Given the description of an element on the screen output the (x, y) to click on. 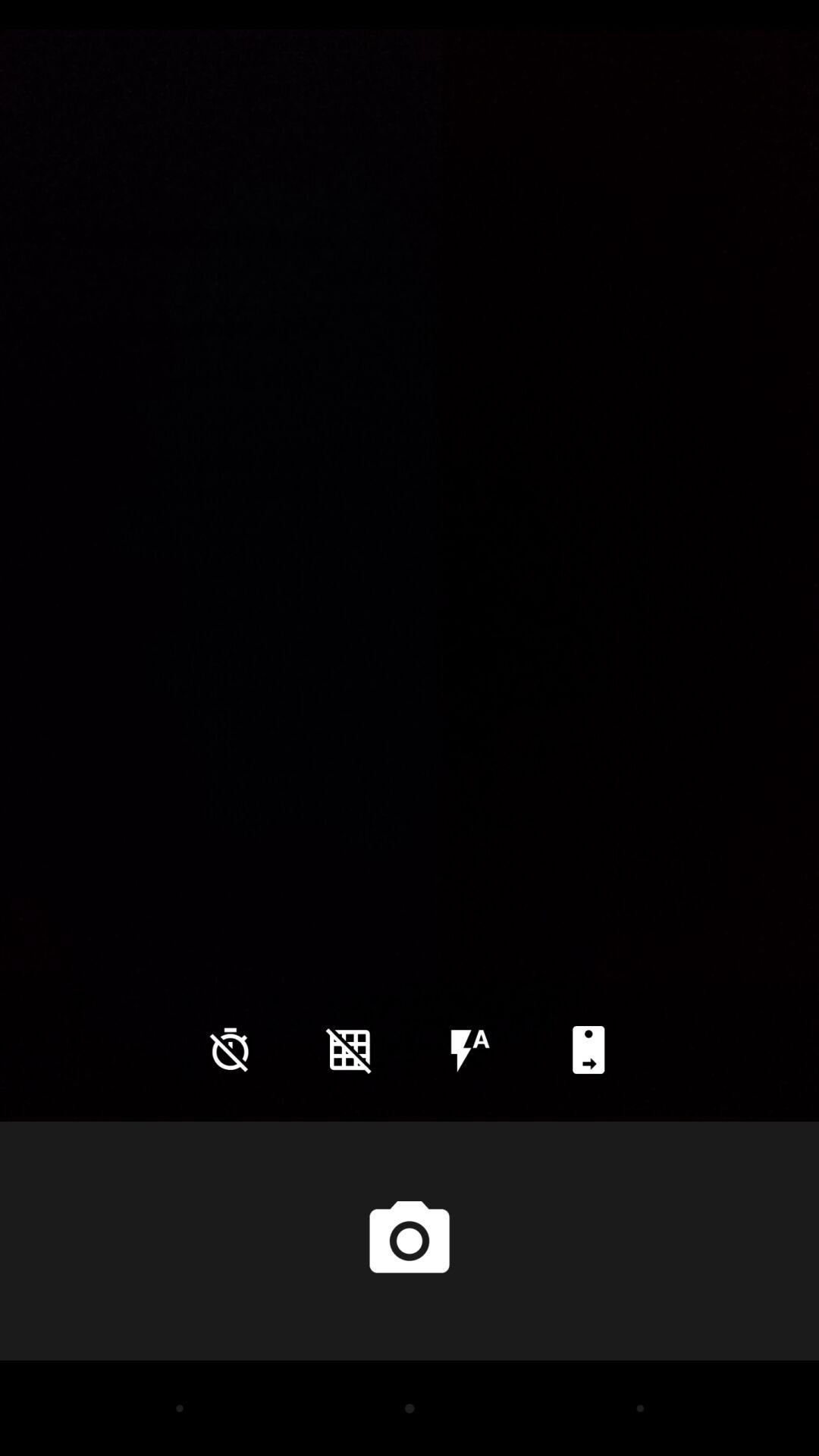
tap the item at the bottom right corner (588, 1049)
